Given the description of an element on the screen output the (x, y) to click on. 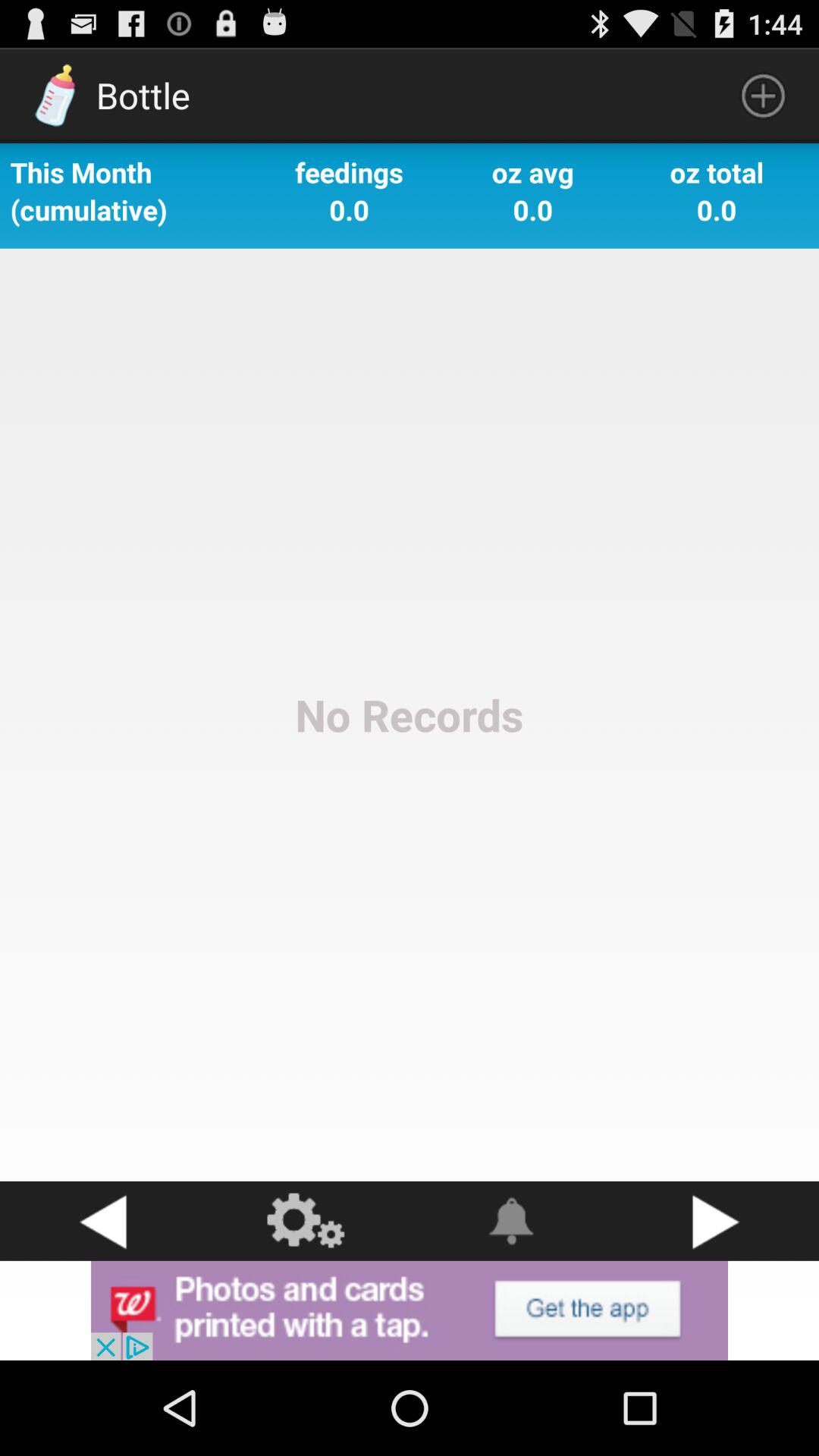
go to previous (102, 1220)
